Given the description of an element on the screen output the (x, y) to click on. 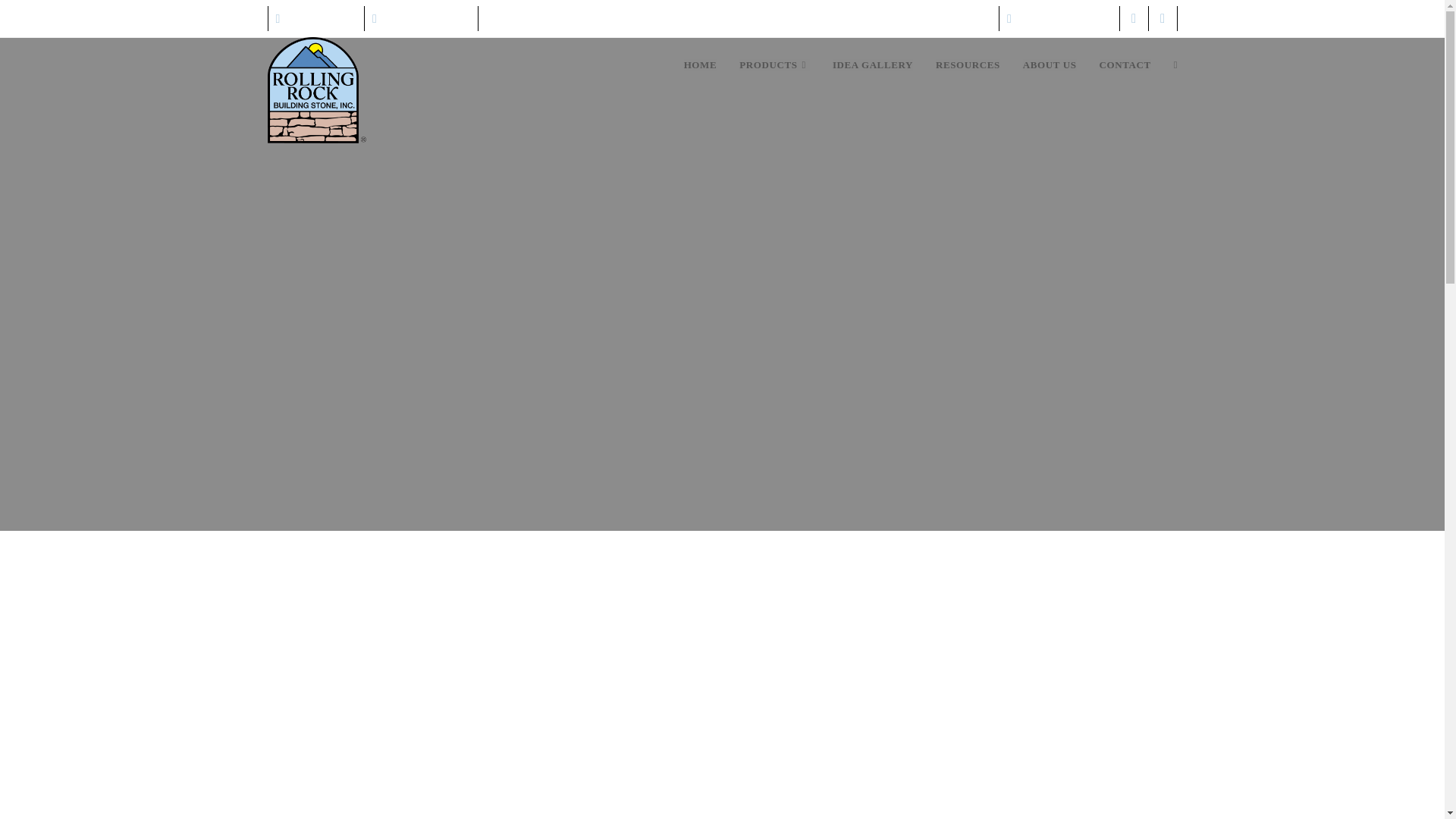
HOME (700, 64)
PRODUCTS (774, 64)
IDEA GALLERY (872, 64)
ABOUT US (1049, 64)
RESOURCES (967, 64)
CONTACT (1124, 64)
